Given the description of an element on the screen output the (x, y) to click on. 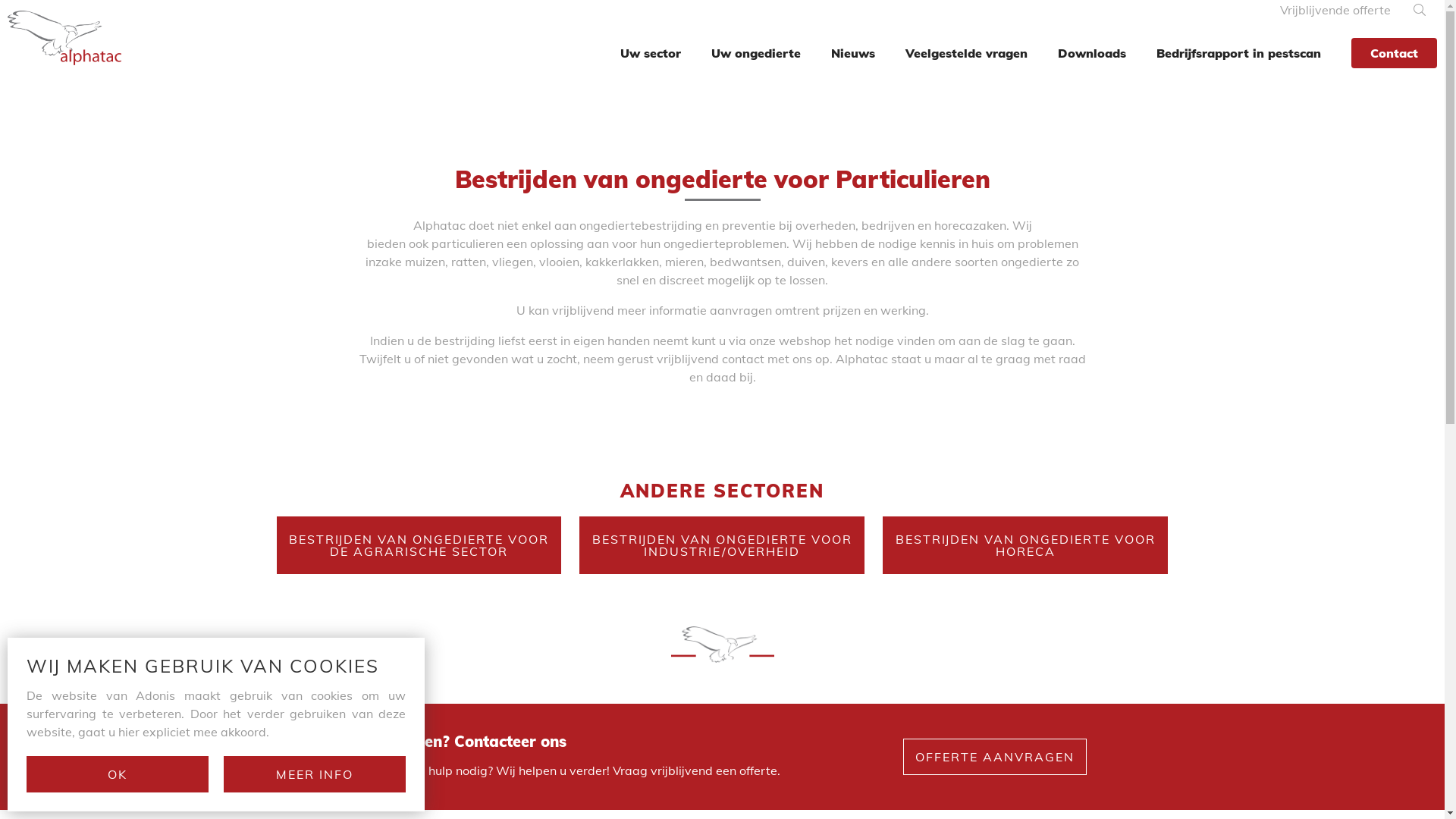
OK Element type: text (117, 774)
Uw ongedierte Element type: text (755, 52)
Nieuws Element type: text (853, 52)
Contact Element type: text (1394, 52)
BESTRIJDEN VAN ONGEDIERTE VOOR HORECA Element type: text (1024, 545)
BESTRIJDEN VAN ONGEDIERTE VOOR INDUSTRIE/OVERHEID Element type: text (721, 545)
MEER INFO Element type: text (314, 774)
Bedrijfsrapport in pestscan Element type: text (1238, 52)
Downloads Element type: text (1091, 52)
Veelgestelde vragen Element type: text (966, 52)
BESTRIJDEN VAN ONGEDIERTE VOOR DE AGRARISCHE SECTOR Element type: text (418, 545)
OFFERTE AANVRAGEN Element type: text (993, 756)
Uw sector Element type: text (650, 52)
Vrijblijvende offerte Element type: text (1335, 9)
